Given the description of an element on the screen output the (x, y) to click on. 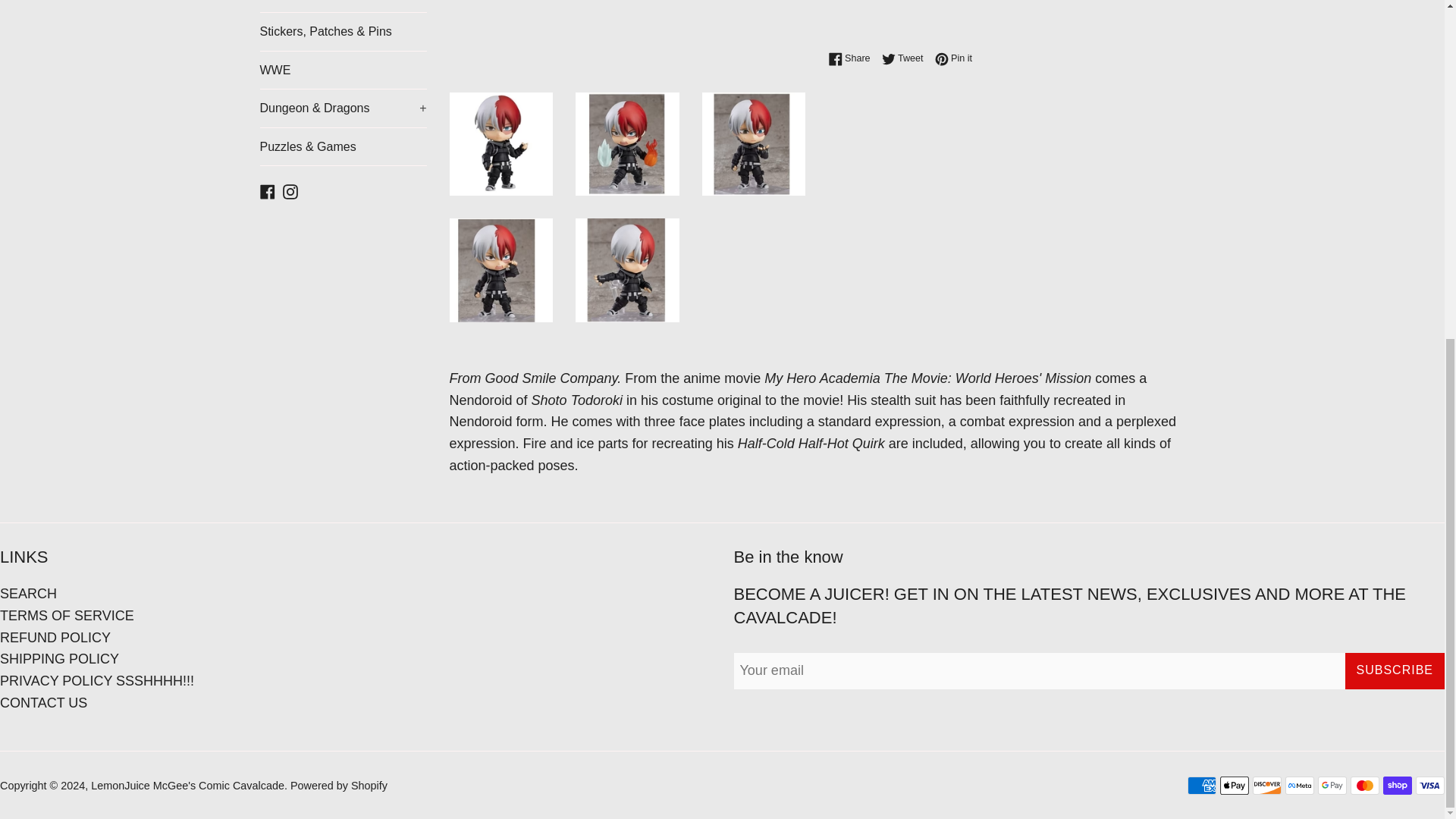
Pin on Pinterest (953, 58)
Apple Pay (1234, 785)
LemonJuice McGee's Comic Cavalcade on Instagram (290, 190)
Mastercard (1364, 785)
Meta Pay (1299, 785)
American Express (1201, 785)
LemonJuice McGee's Comic Cavalcade on Facebook (267, 190)
Share on Facebook (852, 58)
Discover (1266, 785)
WWE (342, 70)
Shop Pay (1397, 785)
Tweet on Twitter (906, 58)
Google Pay (1331, 785)
